Given the description of an element on the screen output the (x, y) to click on. 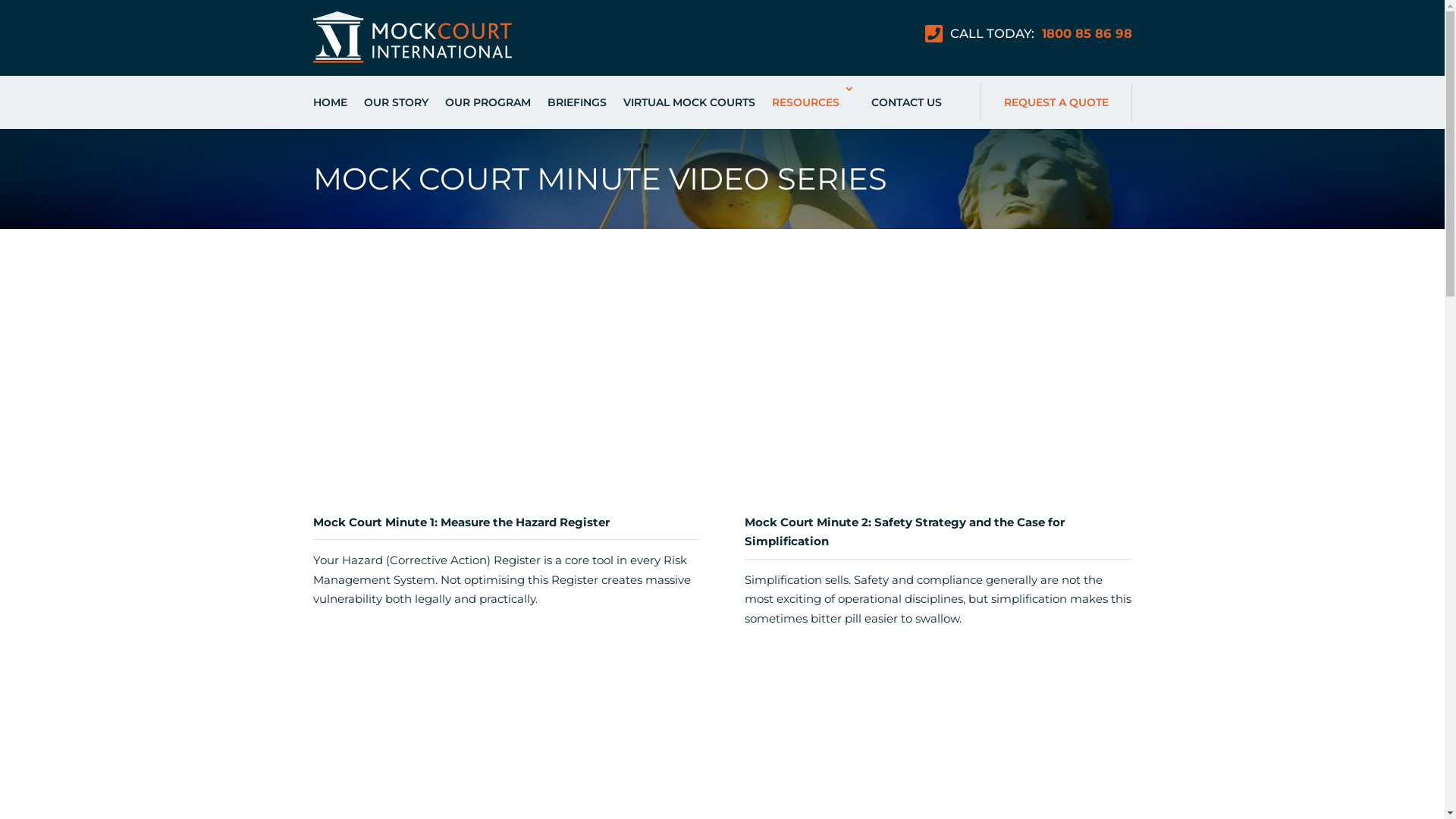
REQUEST A QUOTE Element type: text (1056, 102)
Call Element type: text (1427, 344)
CONTACT US Element type: text (905, 102)
RESOURCES Element type: text (812, 102)
VIRTUAL MOCK COURTS Element type: text (689, 102)
HOME Element type: text (329, 102)
OUR PROGRAM Element type: text (487, 102)
1800 85 86 98 Element type: text (1084, 32)
BRIEFINGS Element type: text (576, 102)
OUR STORY Element type: text (396, 102)
